Given the description of an element on the screen output the (x, y) to click on. 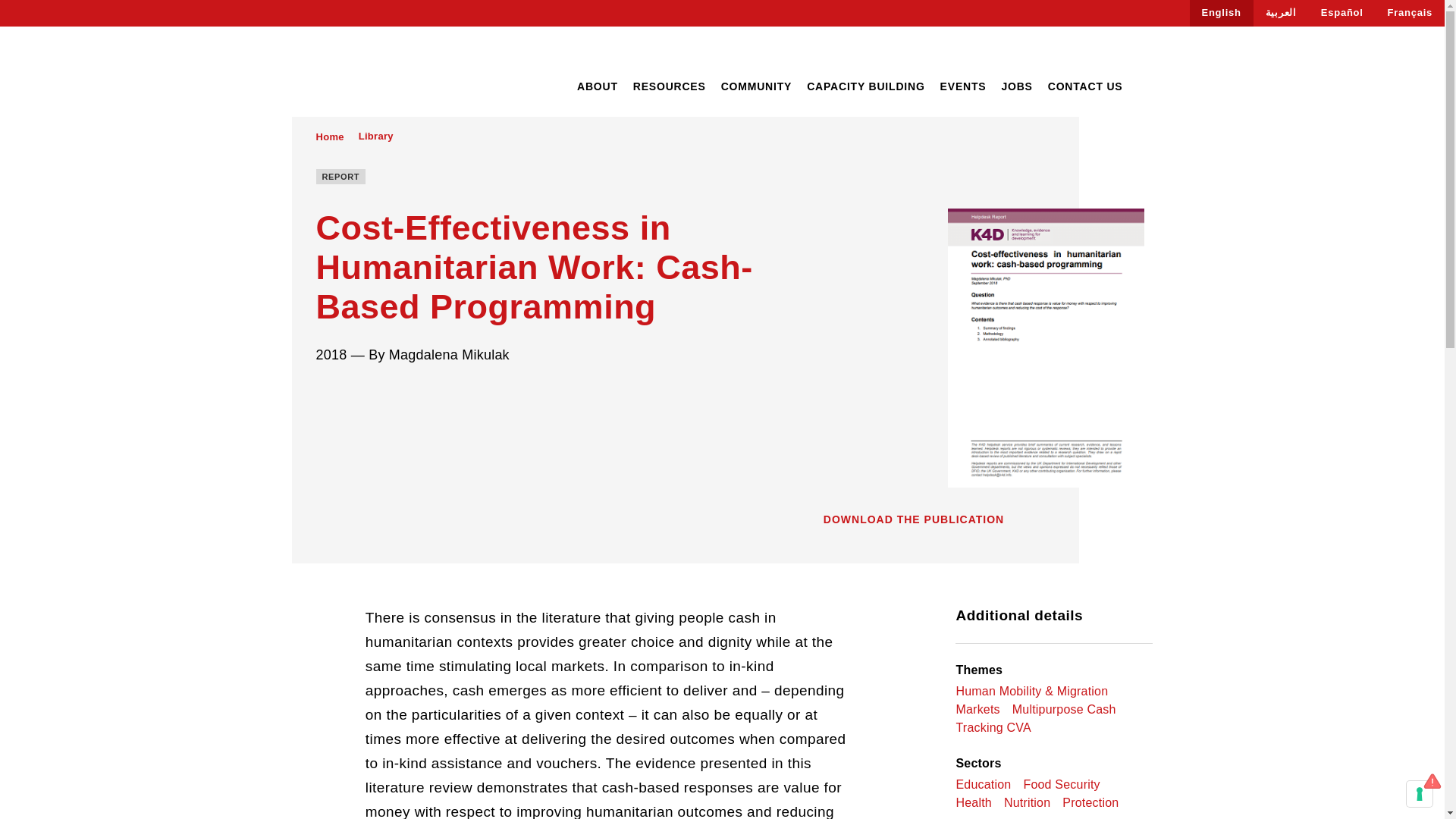
CONTACT US (1085, 86)
JOBS (1016, 86)
EVENTS (963, 86)
Share on LinkedIn (378, 395)
COMMUNITY (756, 86)
Share on Facebook (321, 395)
RESOURCES (669, 86)
Share on Twitter (350, 395)
Go to Library (375, 136)
Go to Home (329, 136)
ABOUT (596, 86)
Go to homepage (363, 72)
Share on email (407, 394)
CAPACITY BUILDING (865, 86)
